Given the description of an element on the screen output the (x, y) to click on. 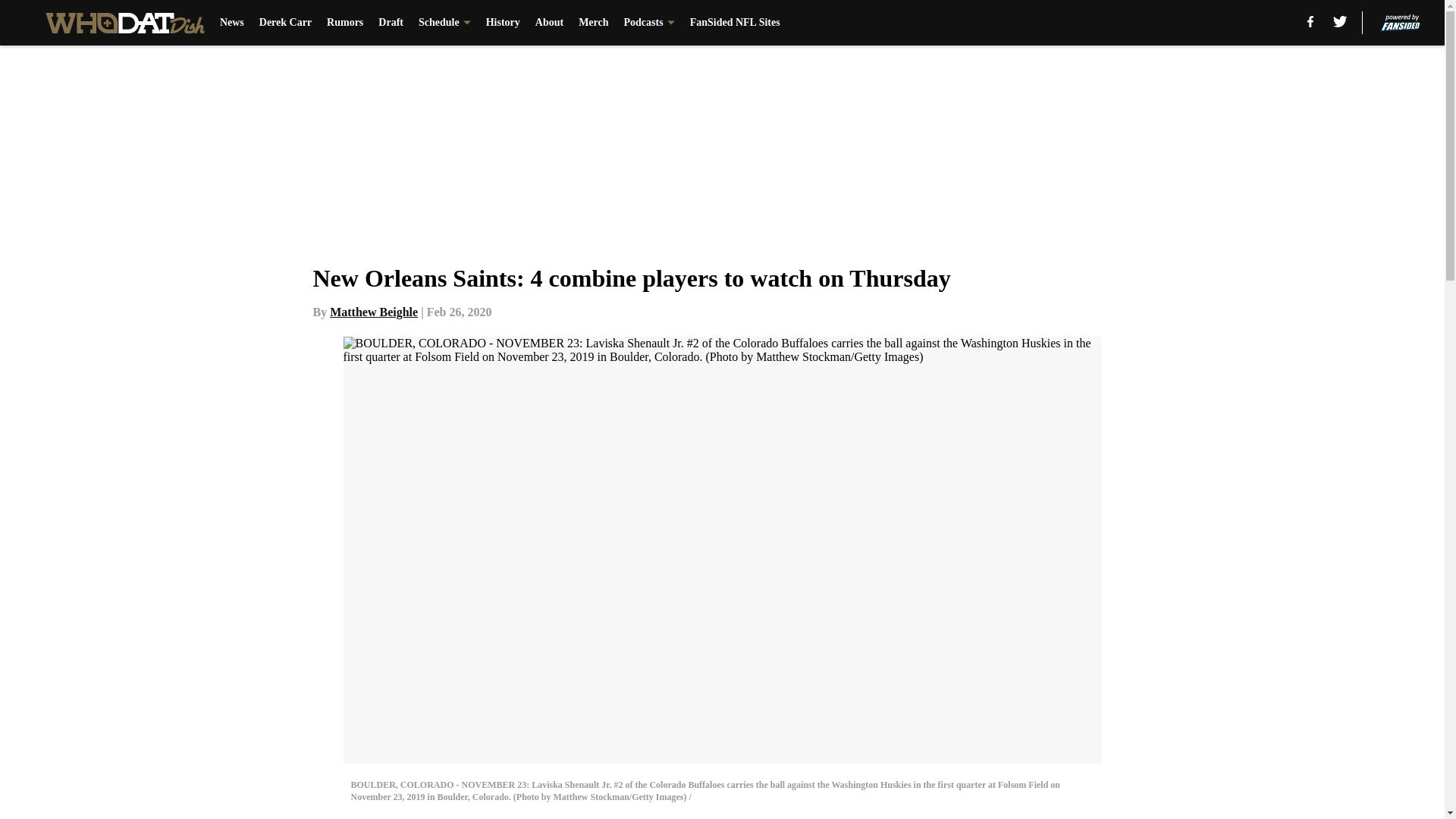
Merch (593, 22)
Draft (390, 22)
FanSided NFL Sites (735, 22)
Matthew Beighle (373, 311)
Rumors (344, 22)
History (502, 22)
Derek Carr (285, 22)
About (549, 22)
News (231, 22)
